Given the description of an element on the screen output the (x, y) to click on. 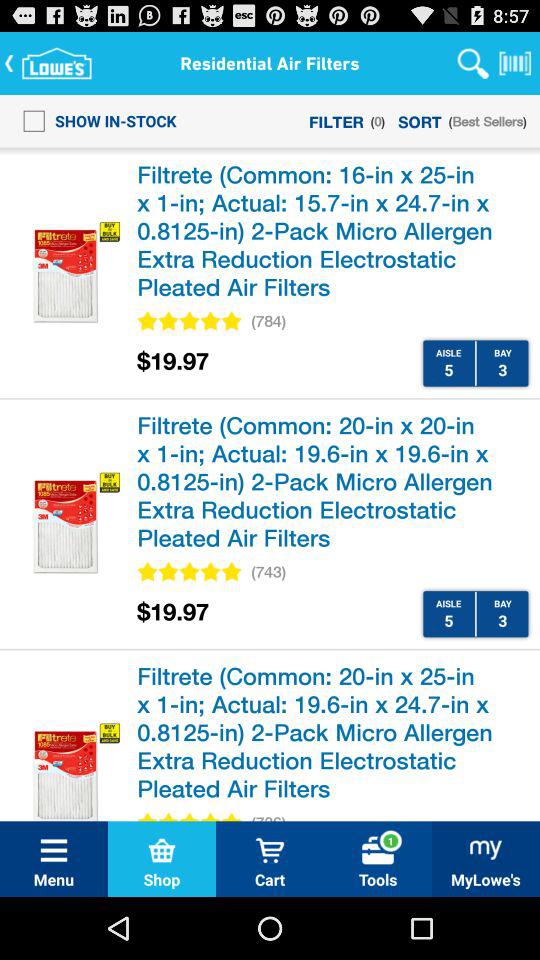
press icon next to residential air filters (473, 62)
